Given the description of an element on the screen output the (x, y) to click on. 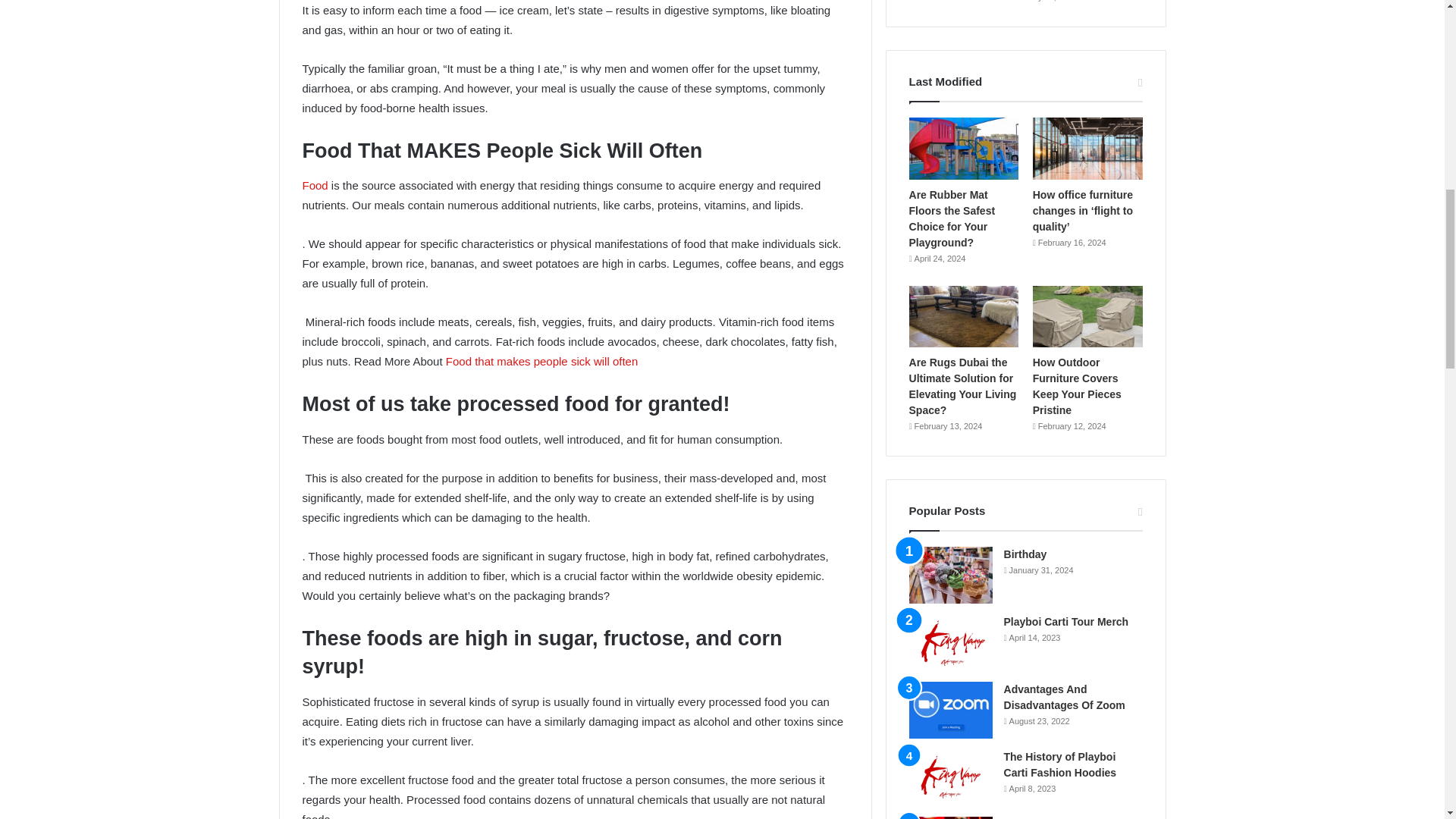
Food (314, 185)
Food that makes people sick will often (541, 360)
